Given the description of an element on the screen output the (x, y) to click on. 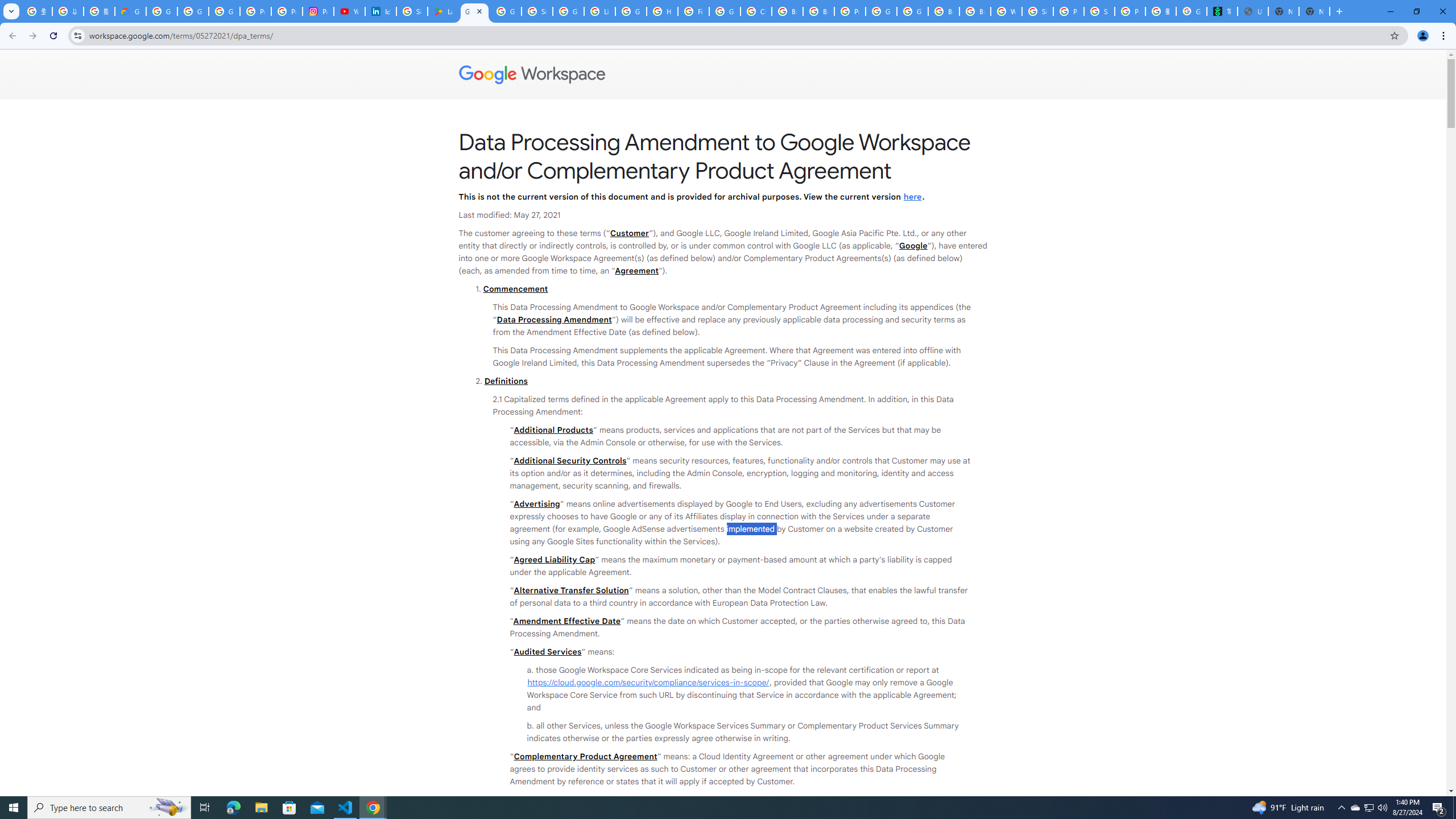
Privacy Help Center - Policies Help (286, 11)
Google Cloud Platform (912, 11)
Browse Chrome as a guest - Computer - Google Chrome Help (787, 11)
Sign in - Google Accounts (411, 11)
